Given the description of an element on the screen output the (x, y) to click on. 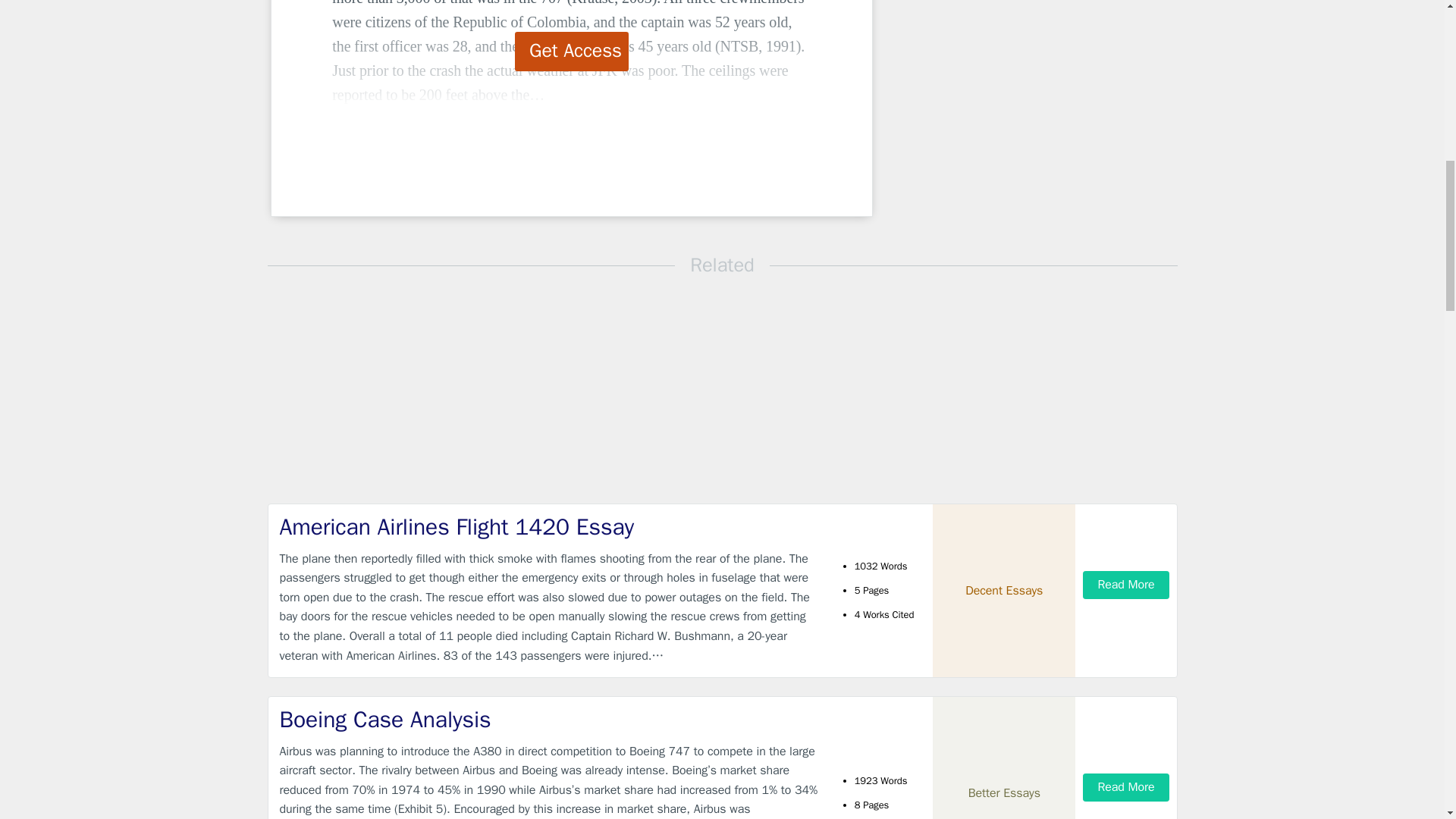
Boeing Case Analysis (548, 719)
Get Access (571, 51)
Read More (1126, 787)
American Airlines Flight 1420 Essay (548, 526)
Read More (1126, 584)
